Given the description of an element on the screen output the (x, y) to click on. 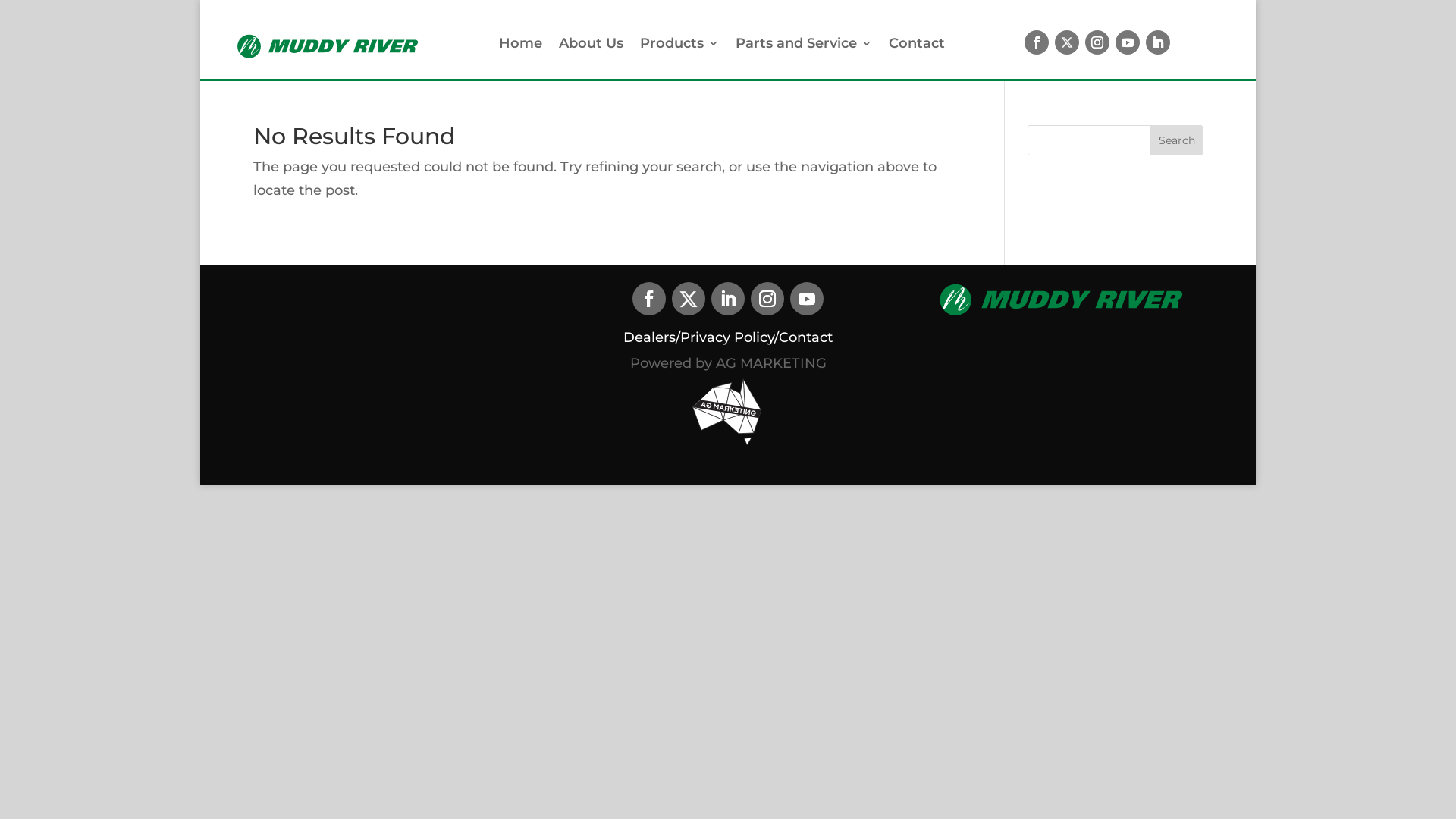
Home Element type: text (520, 45)
Contact Element type: text (805, 337)
Dealers/Privacy Policy Element type: text (698, 337)
Follow on Instagram Element type: hover (767, 298)
Parts and Service Element type: text (803, 45)
AGmarketingwhitelogo-01 Element type: hover (727, 411)
Muddy River Element type: hover (328, 45)
Follow on Instagram Element type: hover (1097, 42)
Follow on Facebook Element type: hover (648, 298)
Follow on Youtube Element type: hover (1127, 42)
Search Element type: text (1176, 140)
Follow on Twitter Element type: hover (1066, 42)
About Us Element type: text (590, 45)
Follow on Twitter Element type: hover (688, 298)
Follow on Facebook Element type: hover (1036, 42)
Contact Element type: text (916, 45)
Products Element type: text (679, 45)
Muddy River Element type: hover (1062, 299)
Follow on LinkedIn Element type: hover (727, 298)
Follow on LinkedIn Element type: hover (1157, 42)
Follow on Youtube Element type: hover (806, 298)
